Given the description of an element on the screen output the (x, y) to click on. 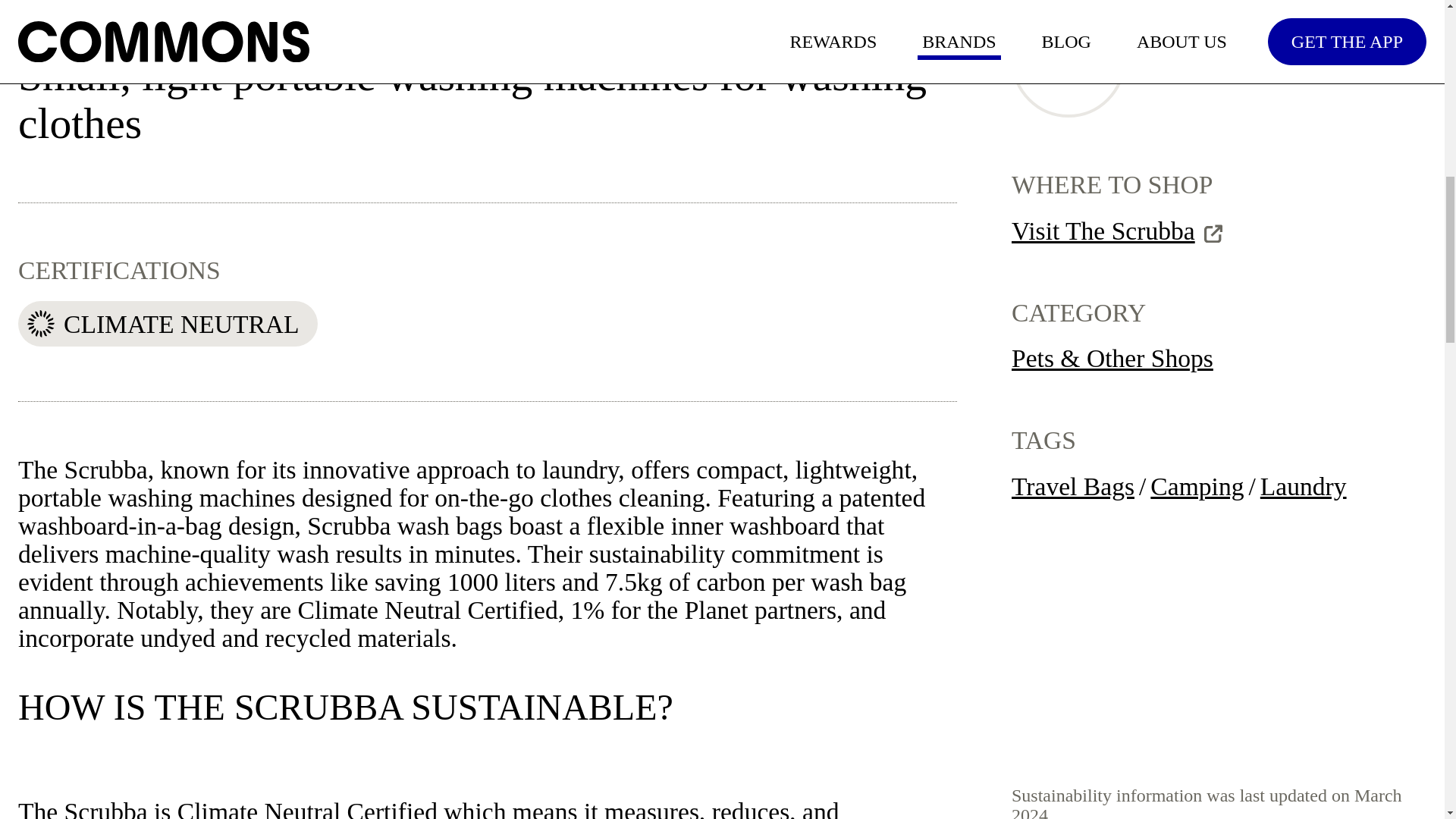
Travel Bags (1072, 487)
Laundry (1303, 487)
Climate Neutral Certified (307, 808)
Visit The Scrubba (1117, 231)
Camping (1196, 487)
